Given the description of an element on the screen output the (x, y) to click on. 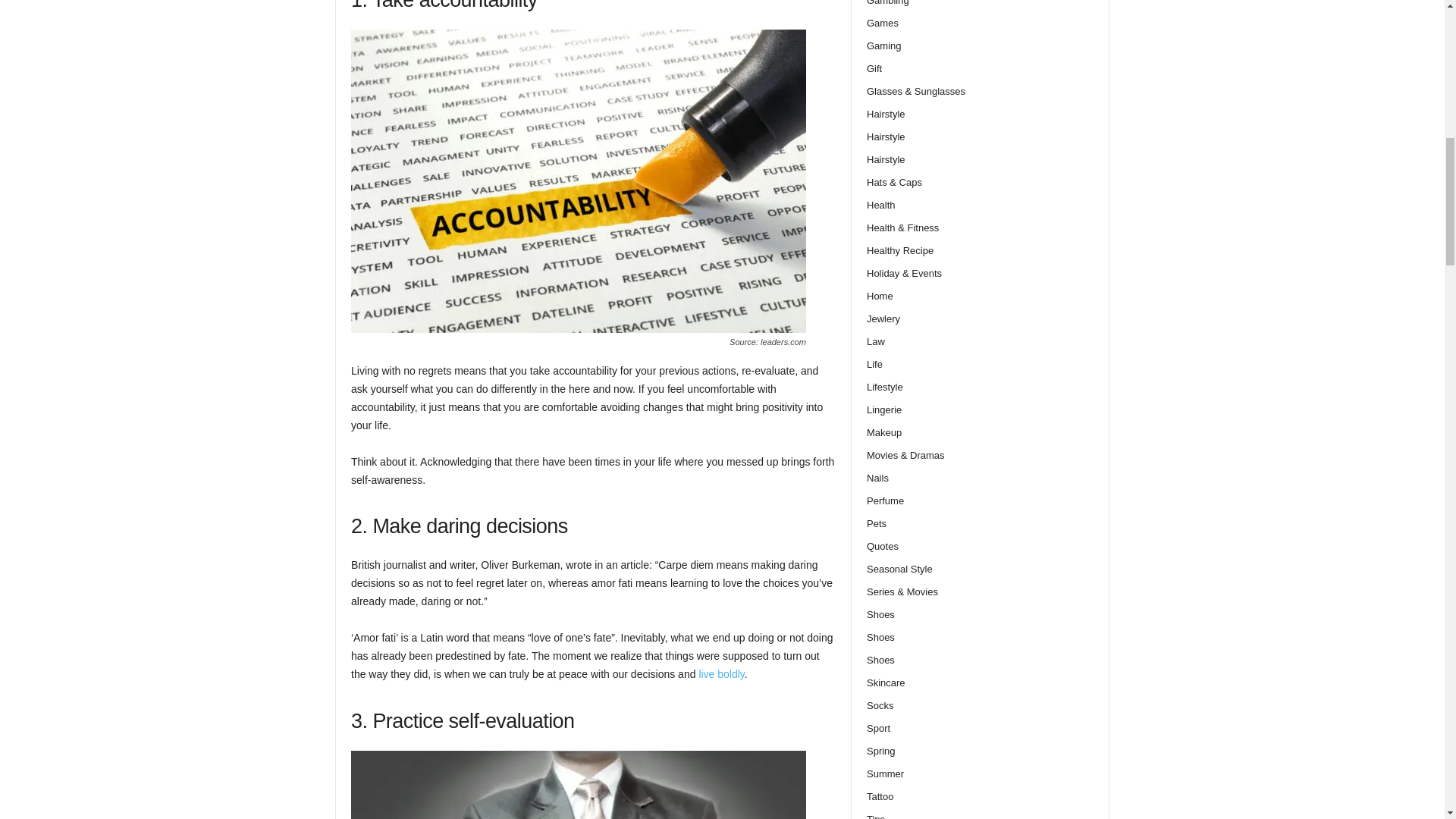
live boldly (721, 674)
